Given the description of an element on the screen output the (x, y) to click on. 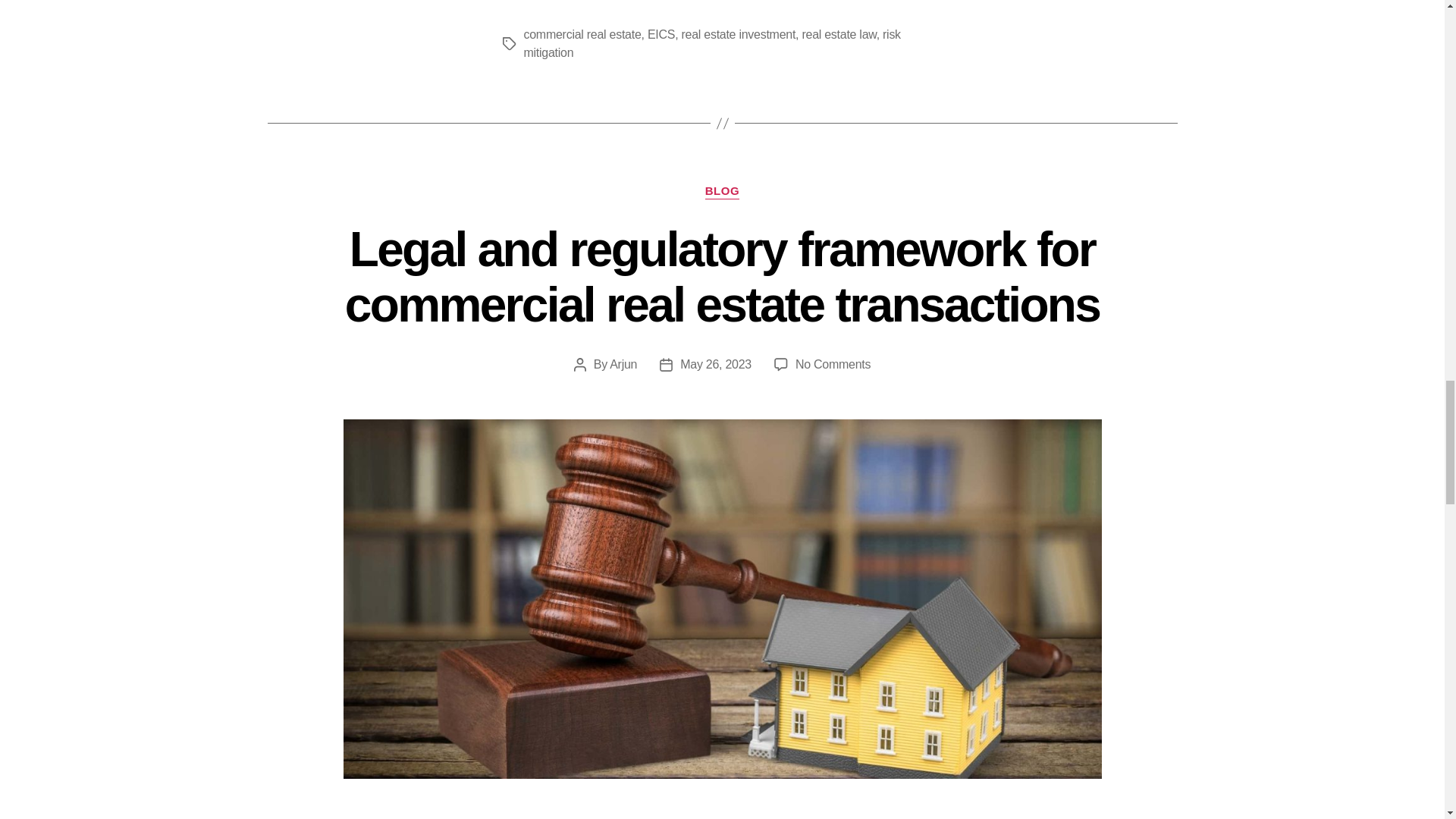
No Comments (832, 364)
May 26, 2023 (715, 364)
commercial real estate (581, 33)
Arjun (623, 364)
risk mitigation (710, 42)
BLOG (721, 191)
EICS (661, 33)
real estate law (839, 33)
real estate investment (737, 33)
